Given the description of an element on the screen output the (x, y) to click on. 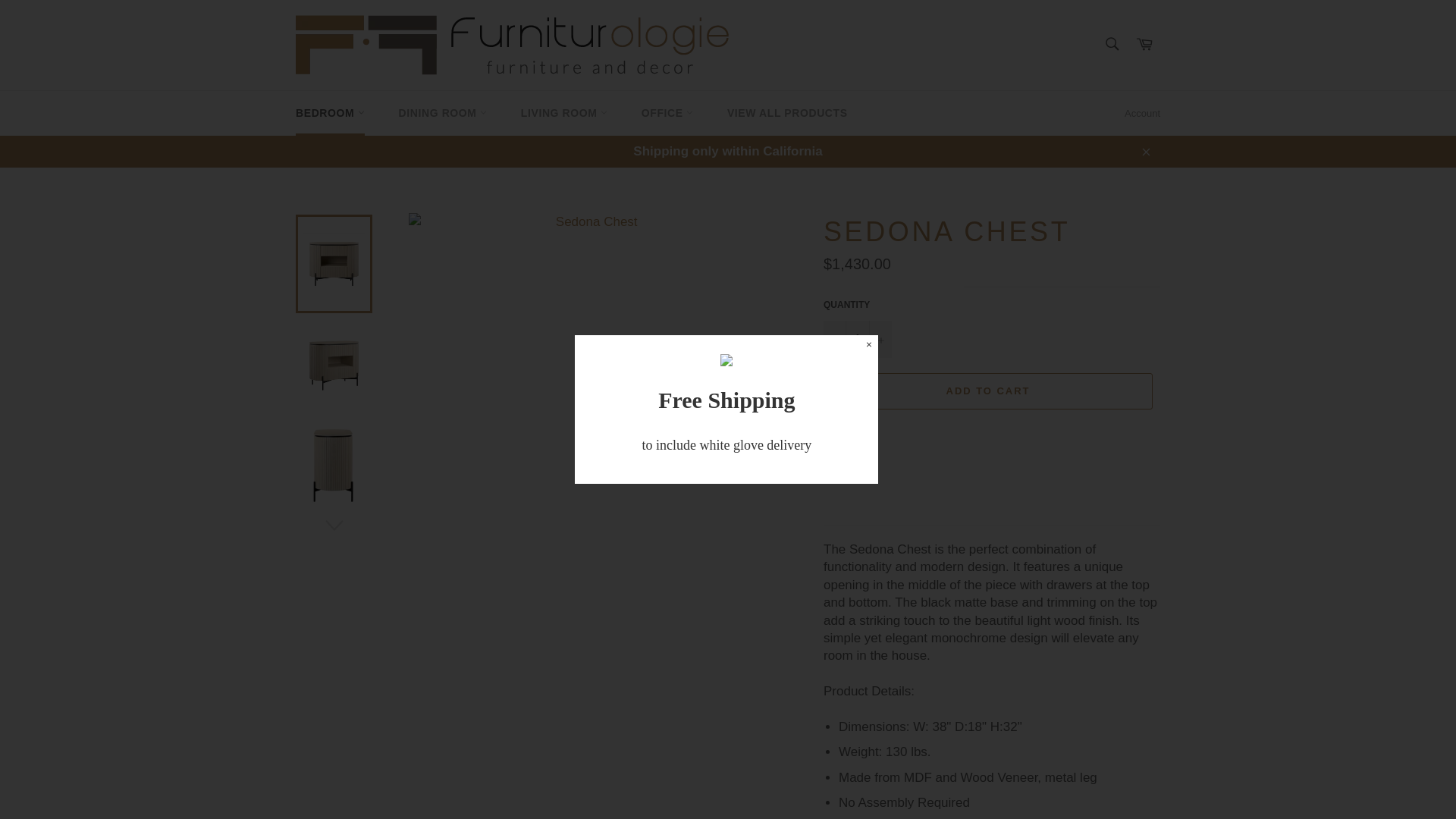
Search (1111, 43)
BEDROOM (330, 112)
1 (857, 339)
DINING ROOM (443, 112)
Cart (1144, 44)
